Given the description of an element on the screen output the (x, y) to click on. 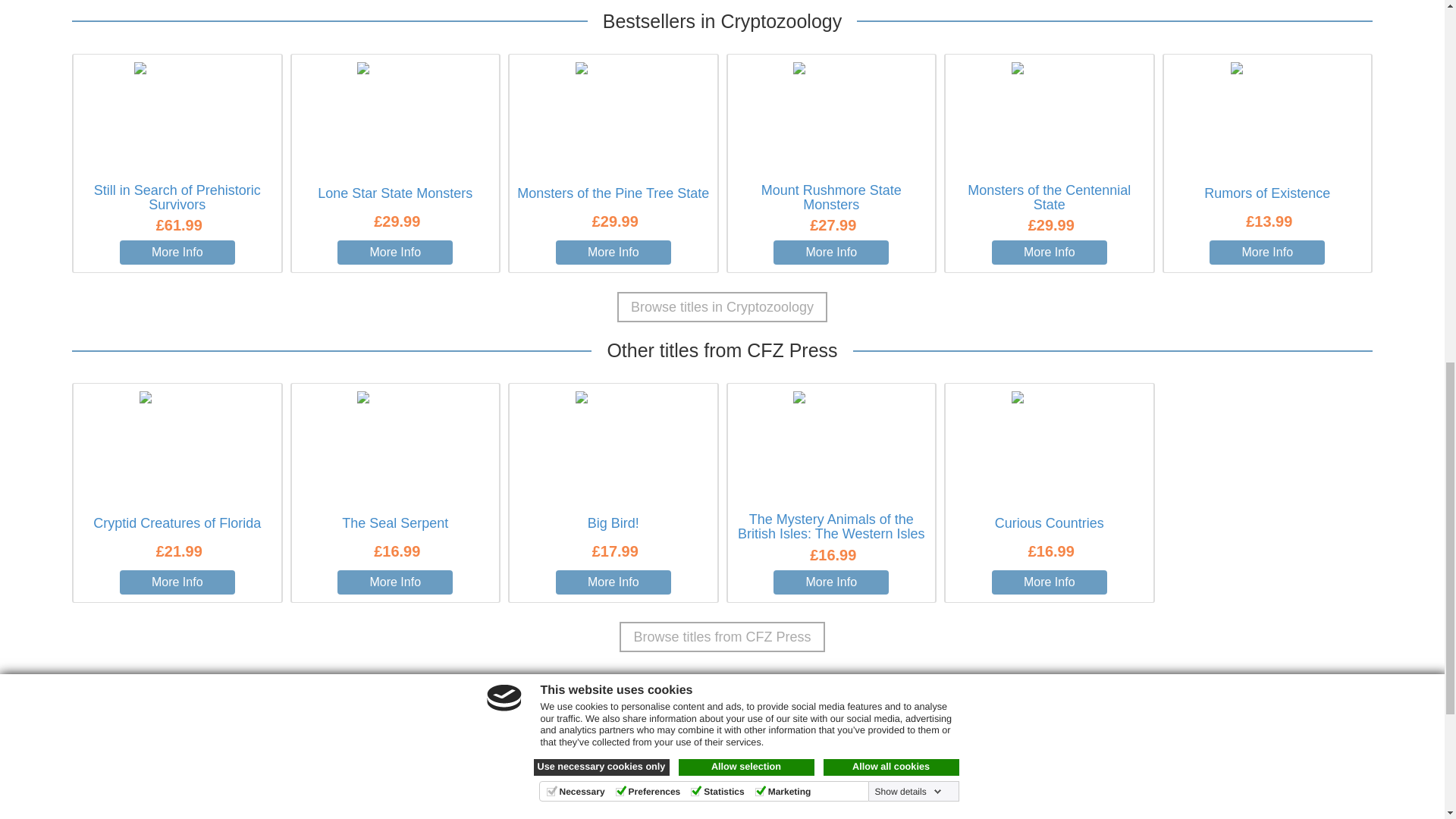
Sign up here (841, 698)
